Given the description of an element on the screen output the (x, y) to click on. 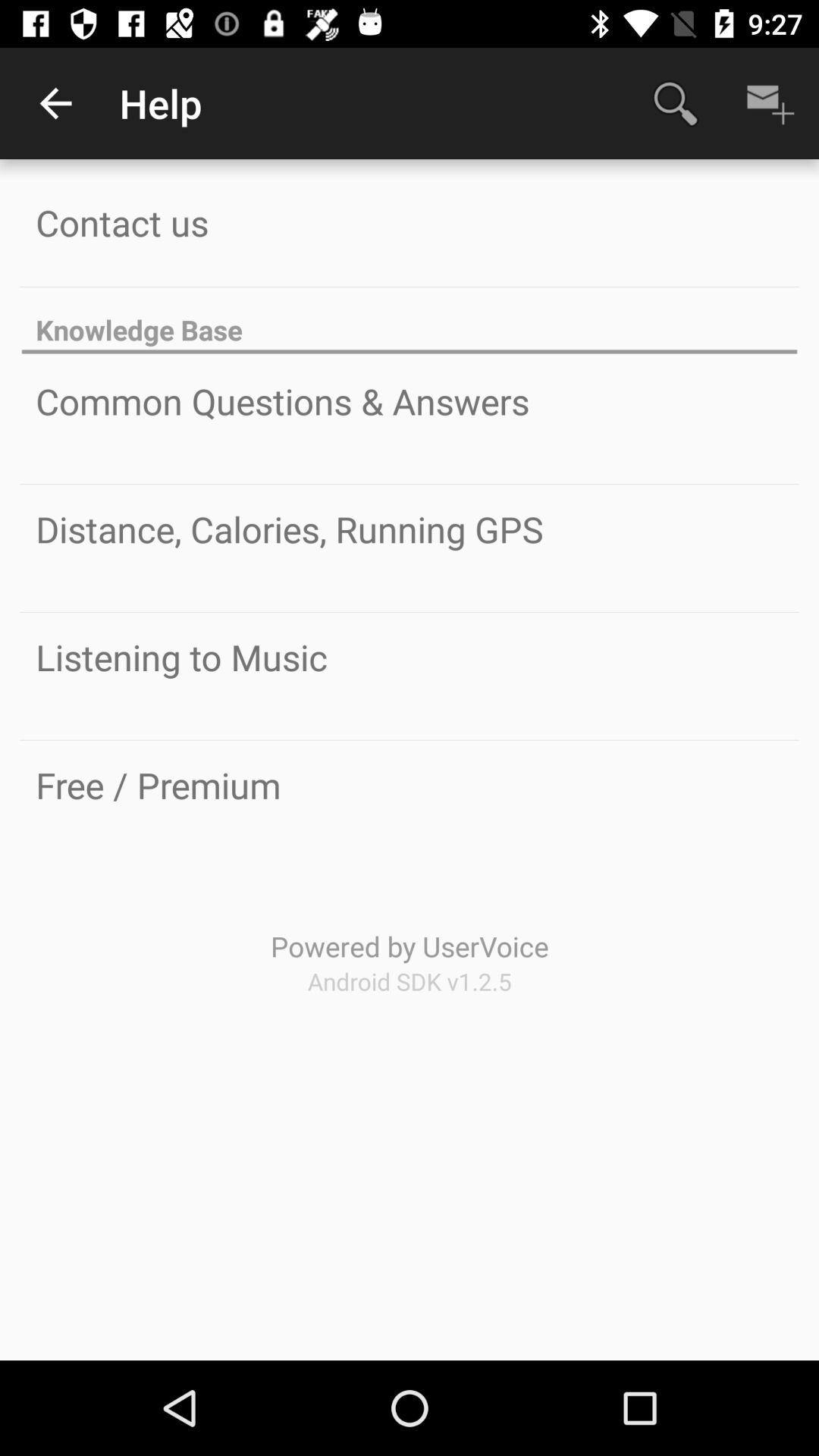
tap item to the right of the help (675, 103)
